Given the description of an element on the screen output the (x, y) to click on. 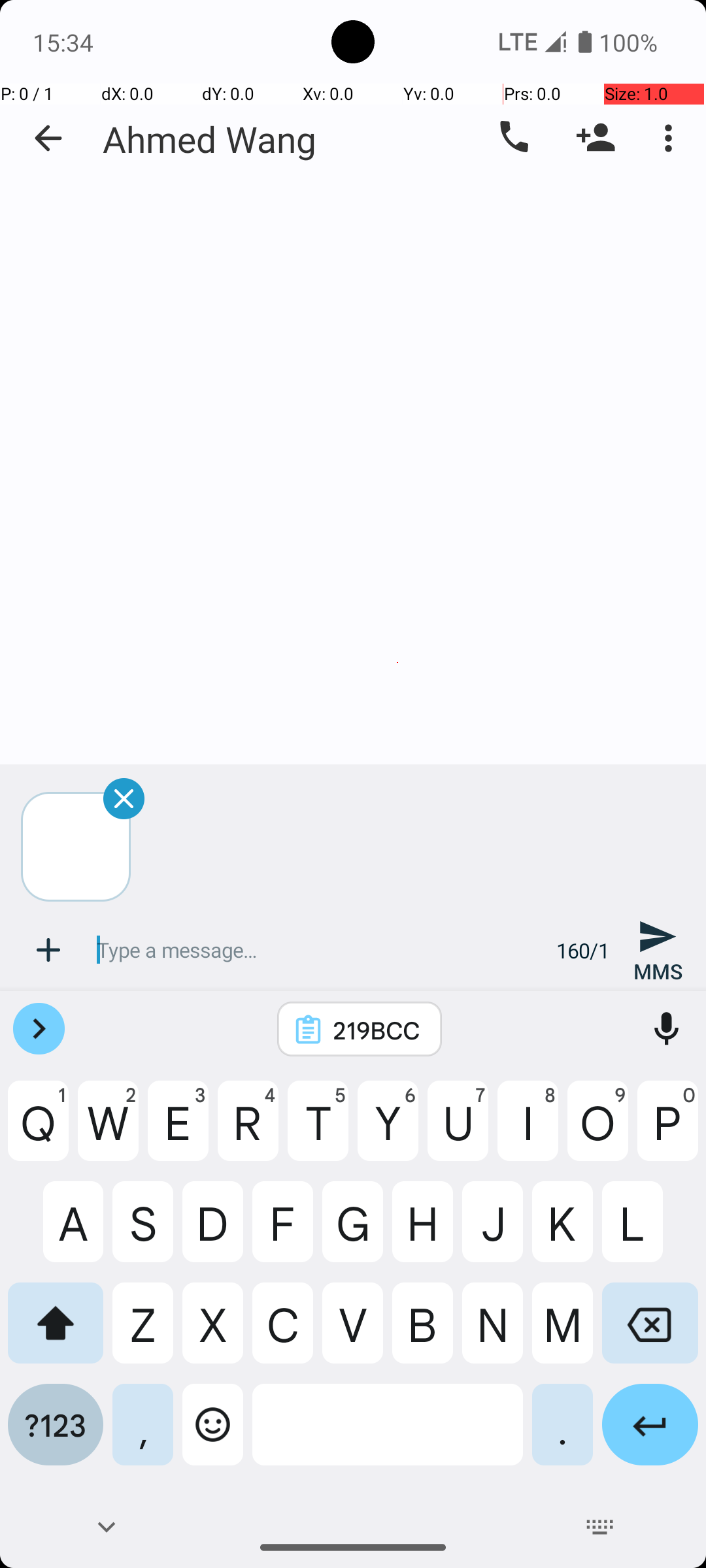
Ahmed Wang Element type: android.widget.TextView (209, 138)
160/1 Element type: android.widget.TextView (582, 950)
MMS Element type: android.widget.Button (657, 949)
219BCC Element type: android.widget.TextView (376, 1029)
